Given the description of an element on the screen output the (x, y) to click on. 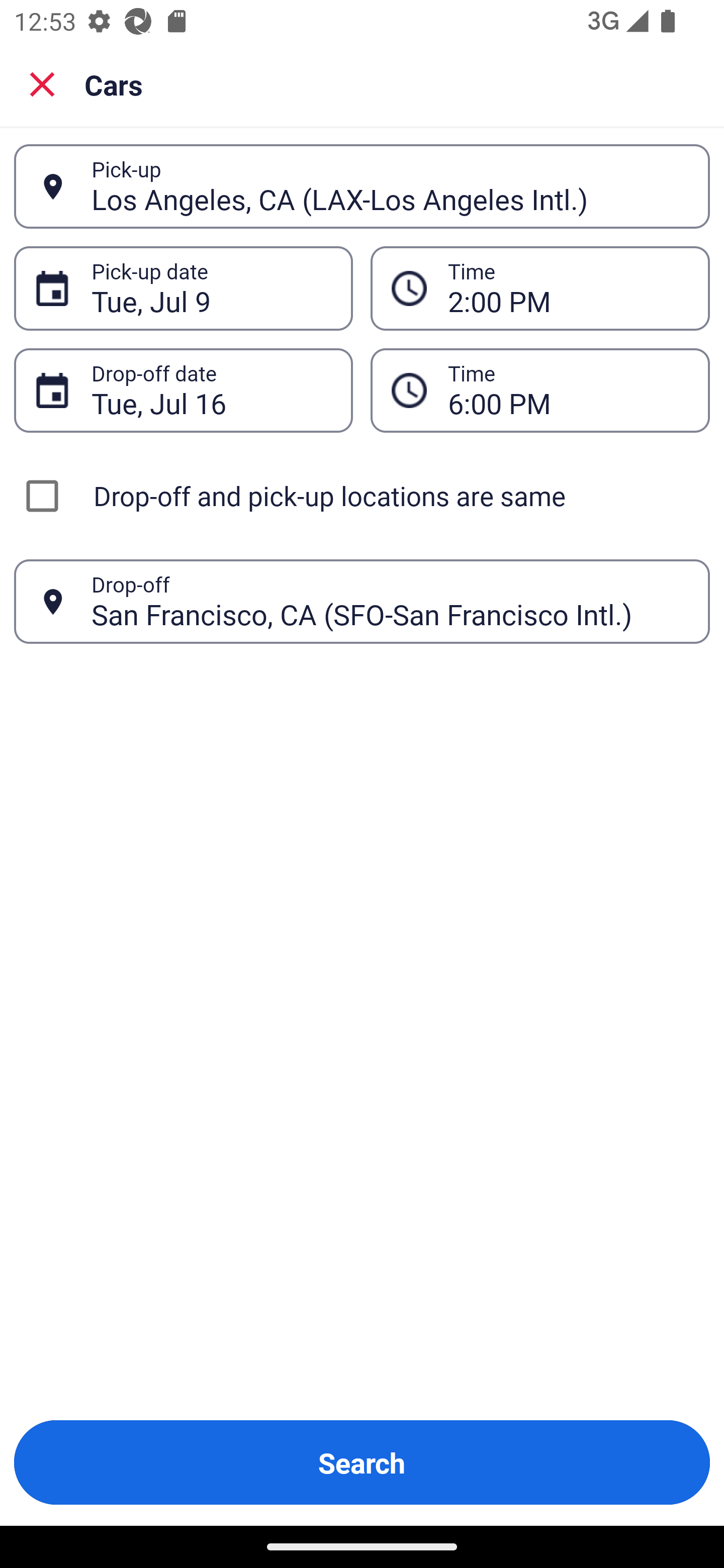
Close search screen (42, 84)
Los Angeles, CA (LAX-Los Angeles Intl.) (389, 186)
Tue, Jul 9 (211, 288)
2:00 PM (568, 288)
Tue, Jul 16 (211, 390)
6:00 PM (568, 390)
Drop-off and pick-up locations are same (361, 495)
San Francisco, CA (SFO-San Francisco Intl.) (389, 601)
Search Button Search (361, 1462)
